Given the description of an element on the screen output the (x, y) to click on. 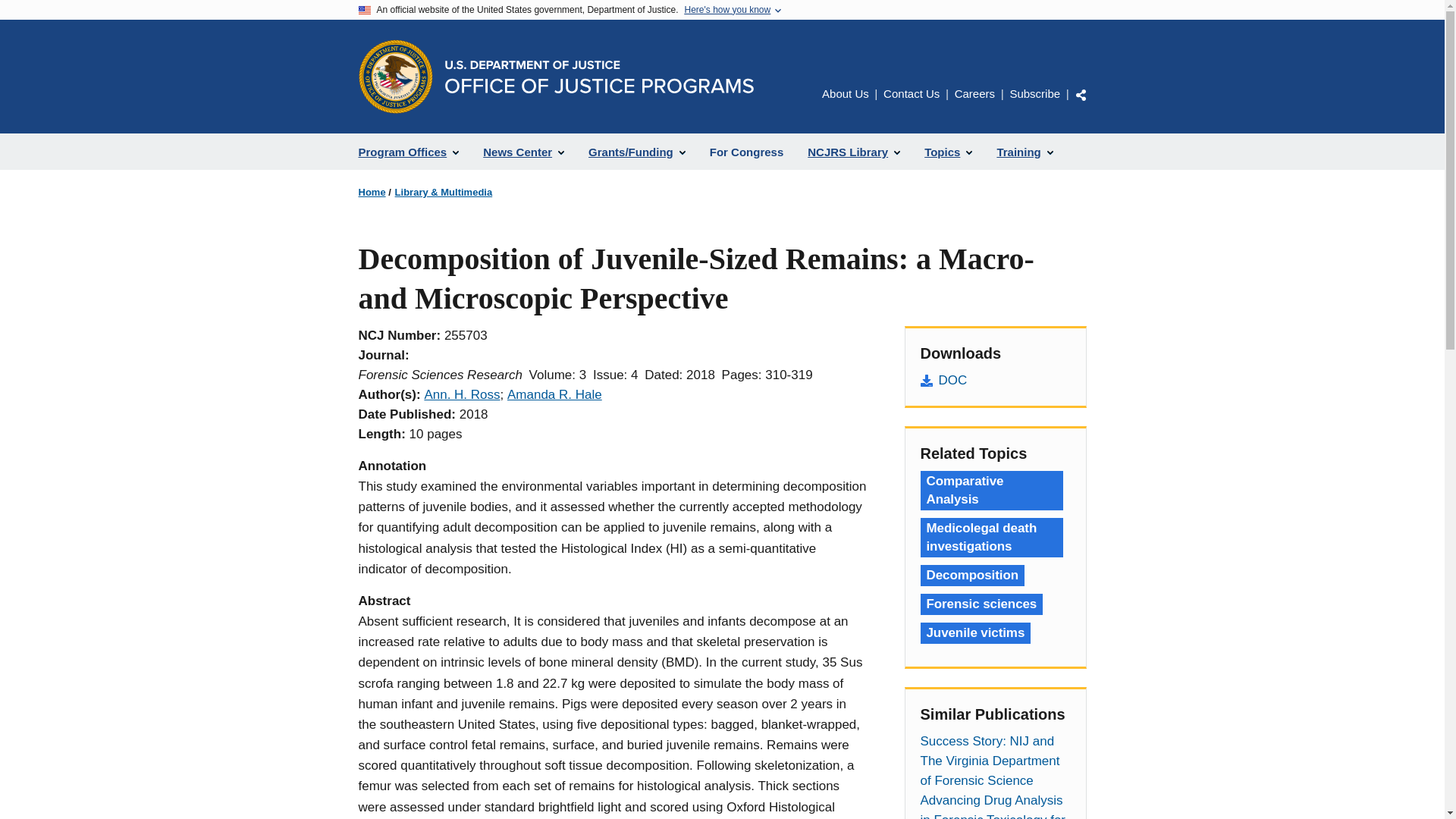
Share (1080, 94)
Subscribe (1034, 93)
Home (598, 76)
Forensic sciences (981, 604)
Amanda R. Hale (554, 394)
For Congress (746, 151)
Comparative Analysis (991, 490)
Careers (974, 93)
DOC (995, 380)
